Given the description of an element on the screen output the (x, y) to click on. 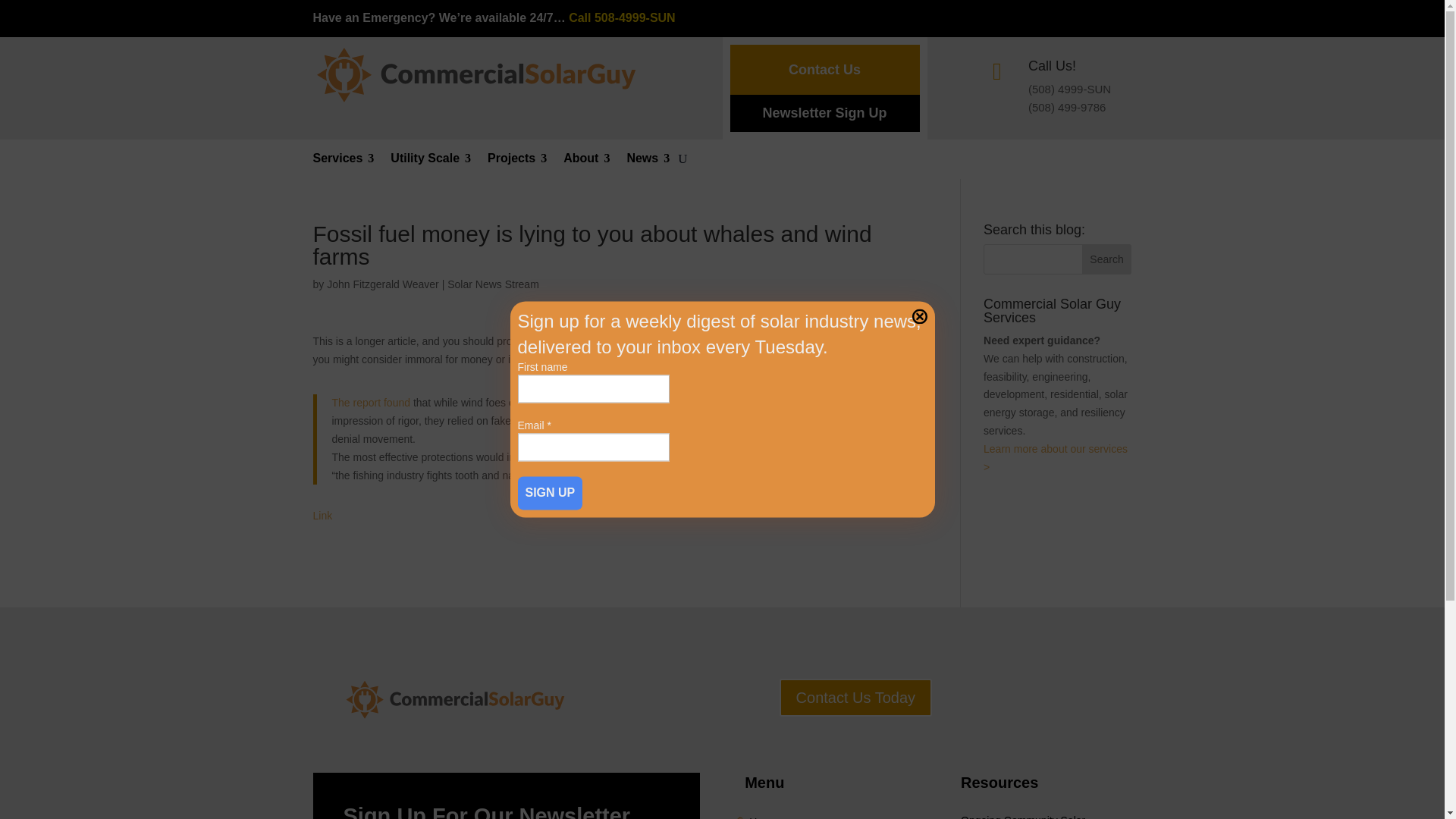
Solar News Stream (492, 284)
Newsletter Sign Up (823, 113)
John Fitzgerald Weaver (382, 284)
Search (1106, 259)
Utility Scale (430, 162)
Email (592, 447)
Call 508-4999-SUN (622, 17)
SIGN UP (549, 493)
Projects (517, 162)
Services (343, 162)
First name (592, 389)
Posts by John Fitzgerald Weaver (382, 284)
Contact Us (823, 70)
About (586, 162)
News (647, 162)
